Given the description of an element on the screen output the (x, y) to click on. 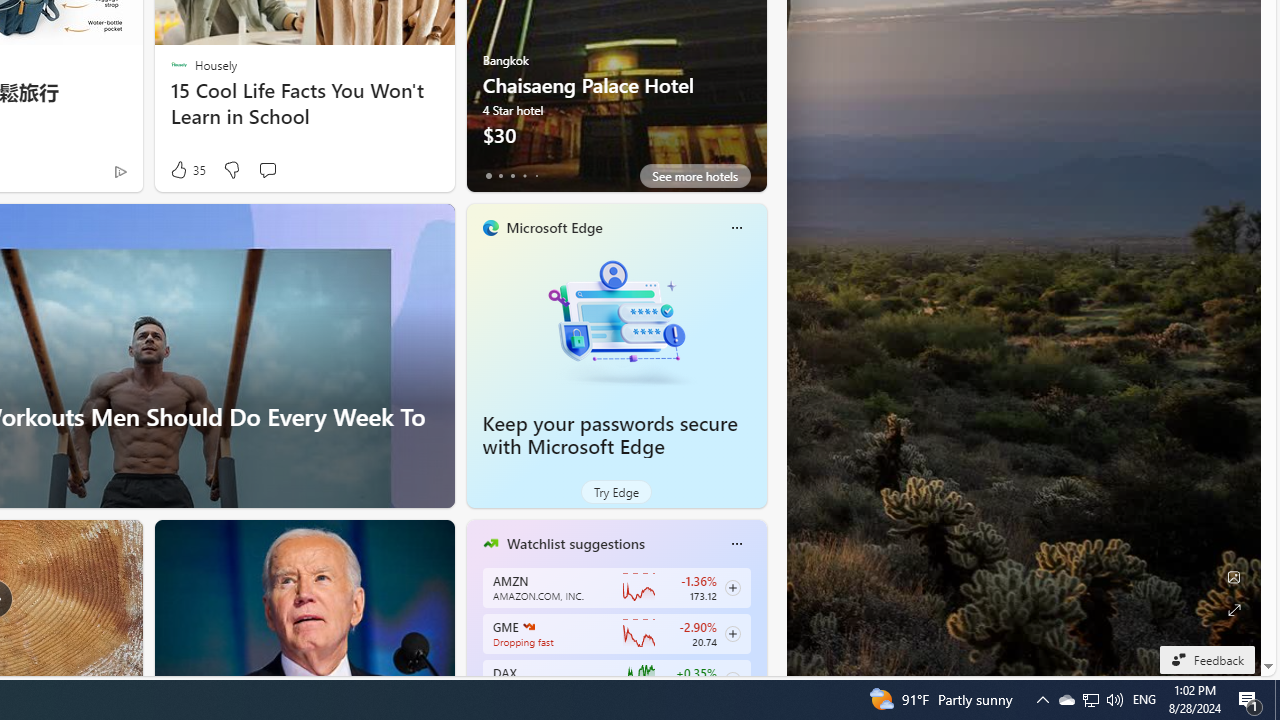
tab-4 (535, 175)
tab-2 (511, 175)
See more hotels (694, 175)
Microsoft Edge (553, 227)
Try Edge (616, 491)
GAMESTOP CORP. (528, 626)
Class: follow-button  m (732, 679)
Expand background (1233, 610)
tab-3 (524, 175)
tab-1 (500, 175)
